Given the description of an element on the screen output the (x, y) to click on. 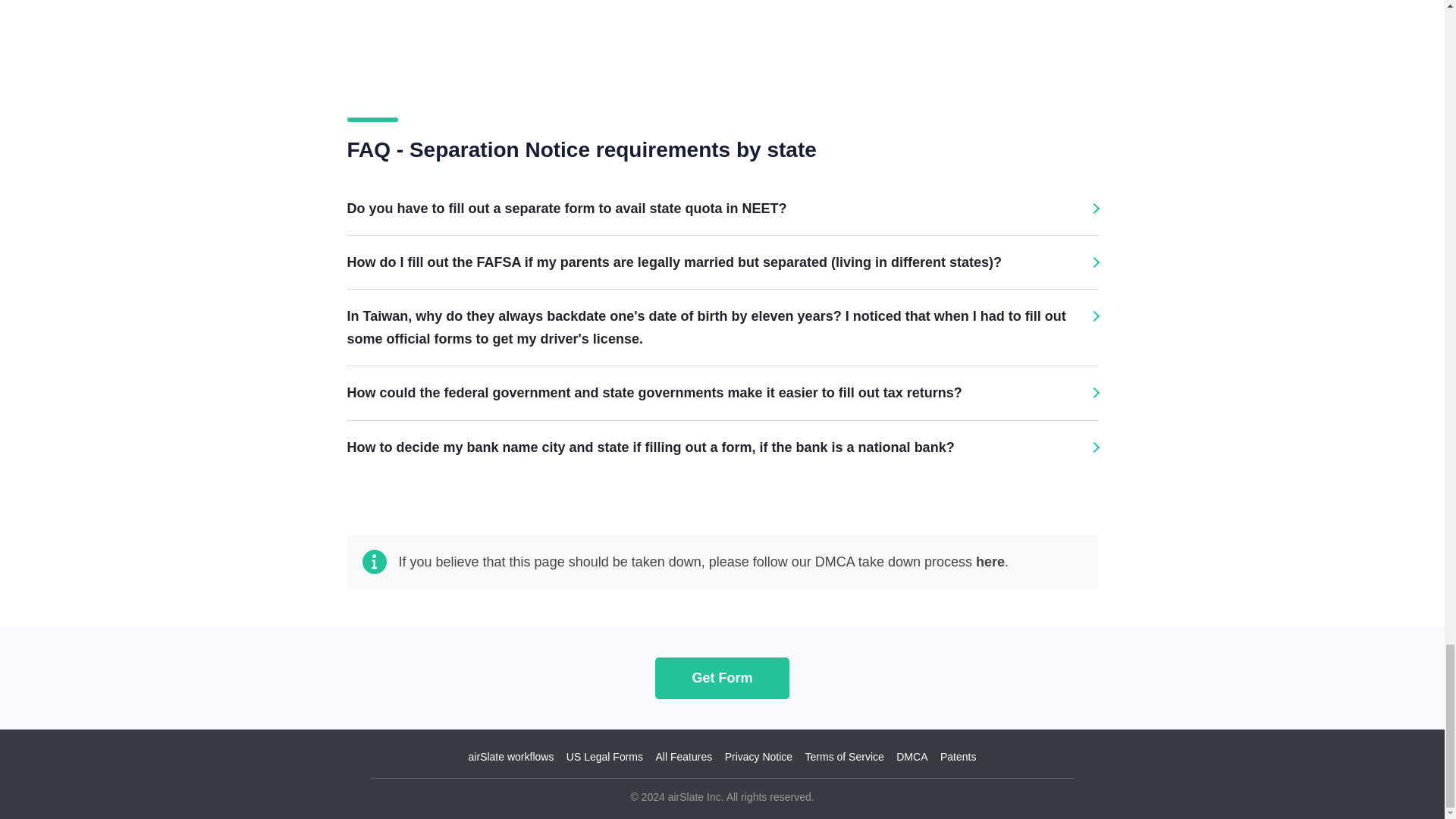
airSlate workflows (511, 756)
US Legal Forms (604, 756)
Privacy Notice (758, 756)
Get Form (722, 677)
DMCA (911, 756)
Terms of Service (844, 756)
All Features (683, 756)
here (989, 561)
Patents (957, 756)
